Given the description of an element on the screen output the (x, y) to click on. 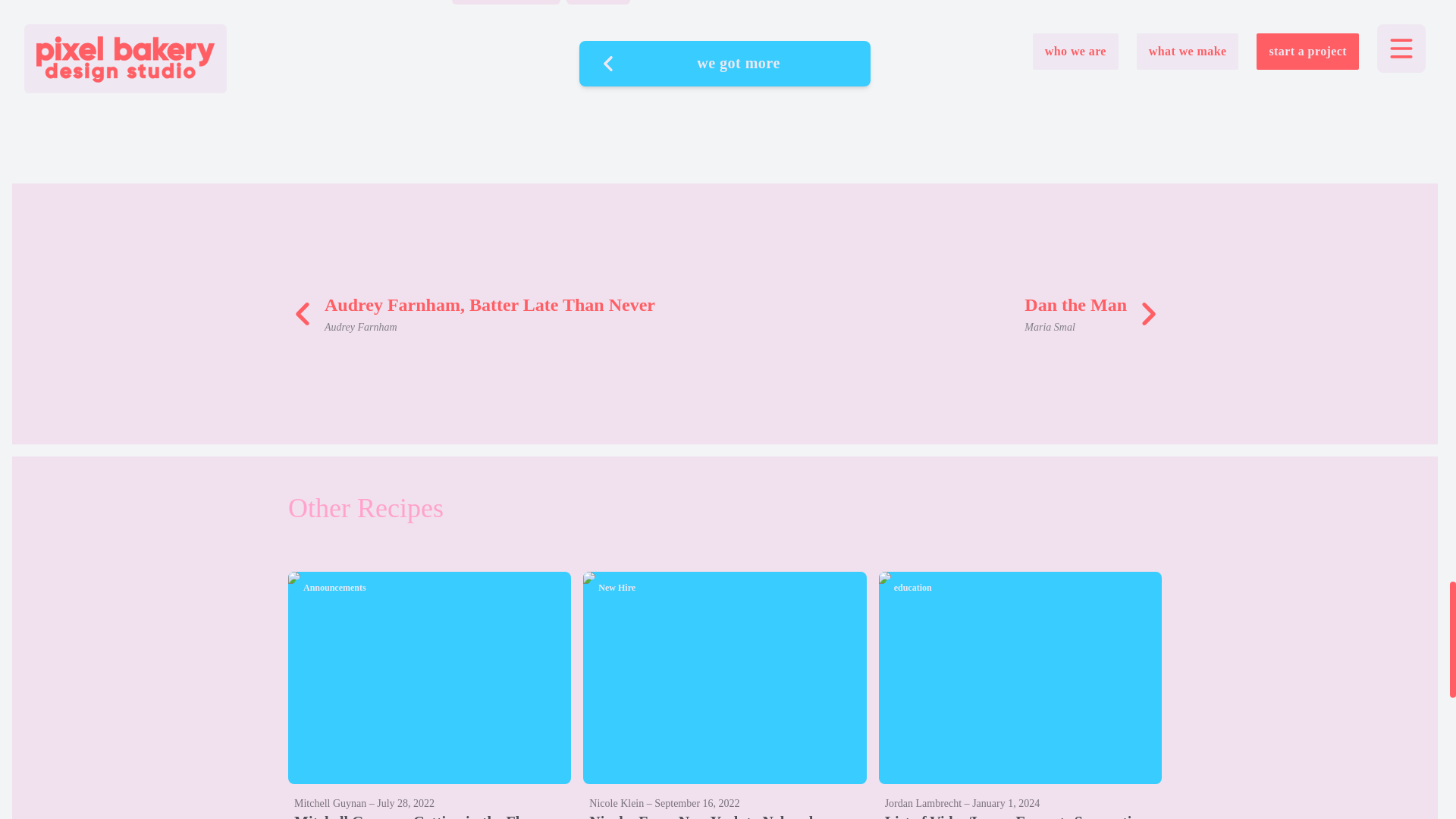
we got more (951, 313)
